Given the description of an element on the screen output the (x, y) to click on. 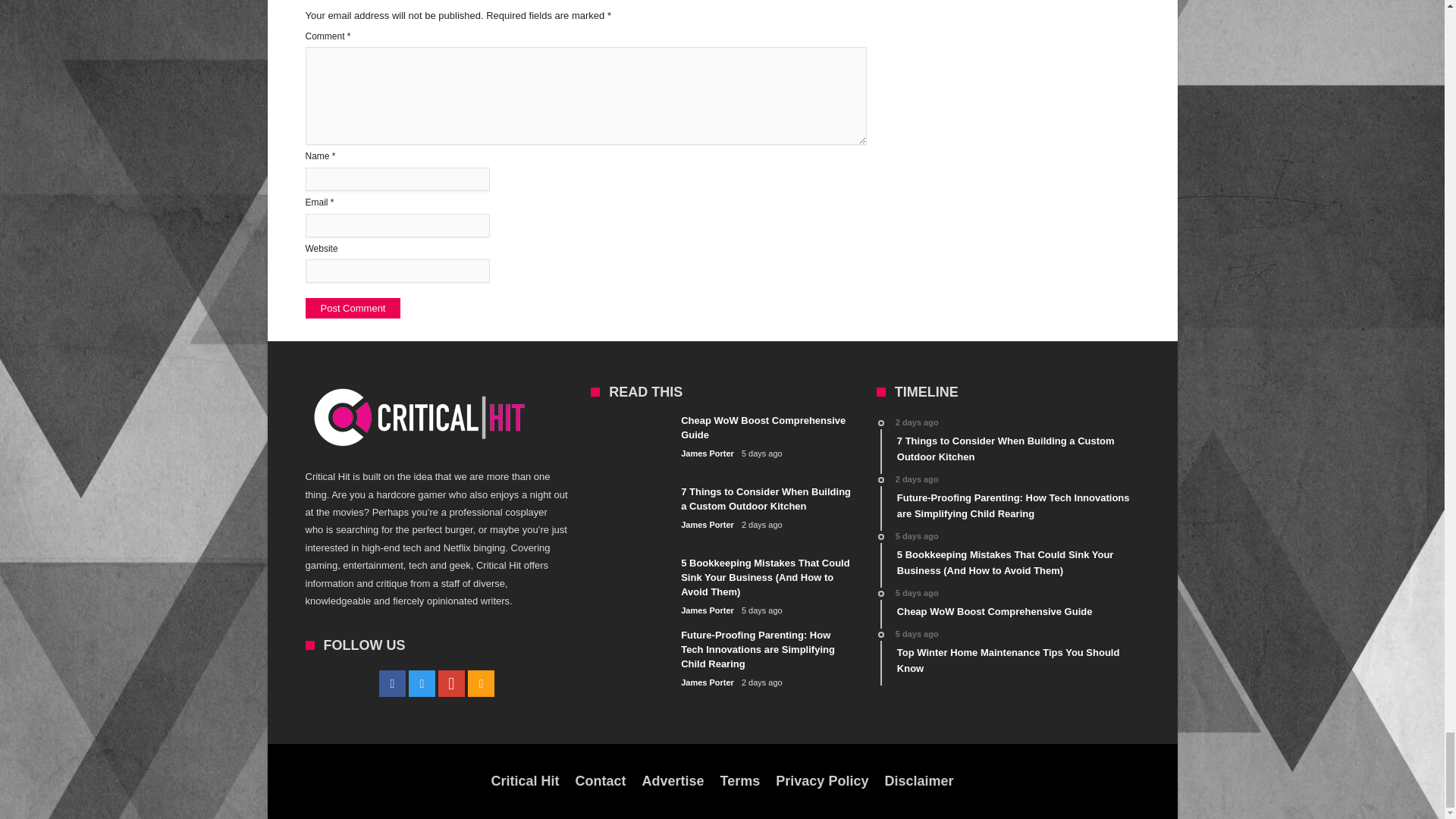
Post Comment (352, 308)
